Given the description of an element on the screen output the (x, y) to click on. 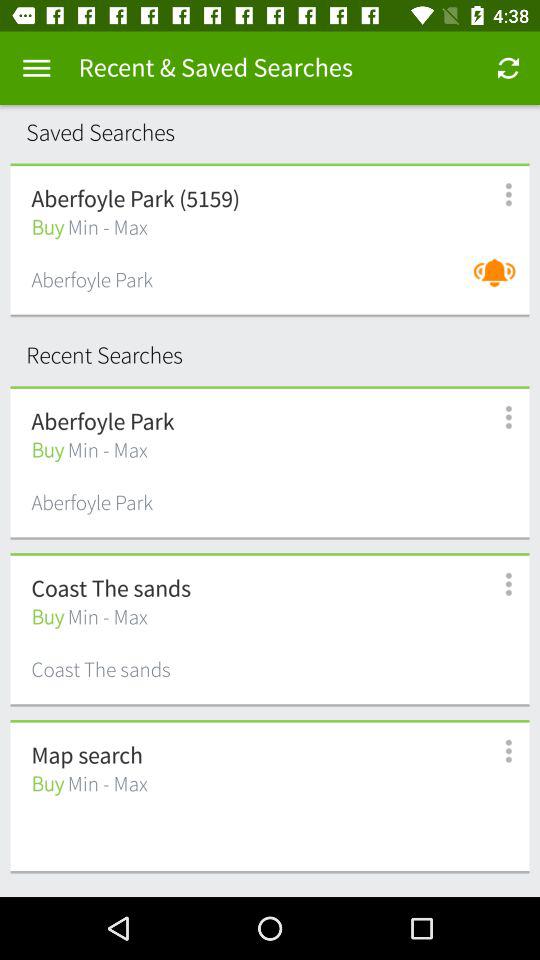
select icon above buy min - max icon (86, 756)
